Given the description of an element on the screen output the (x, y) to click on. 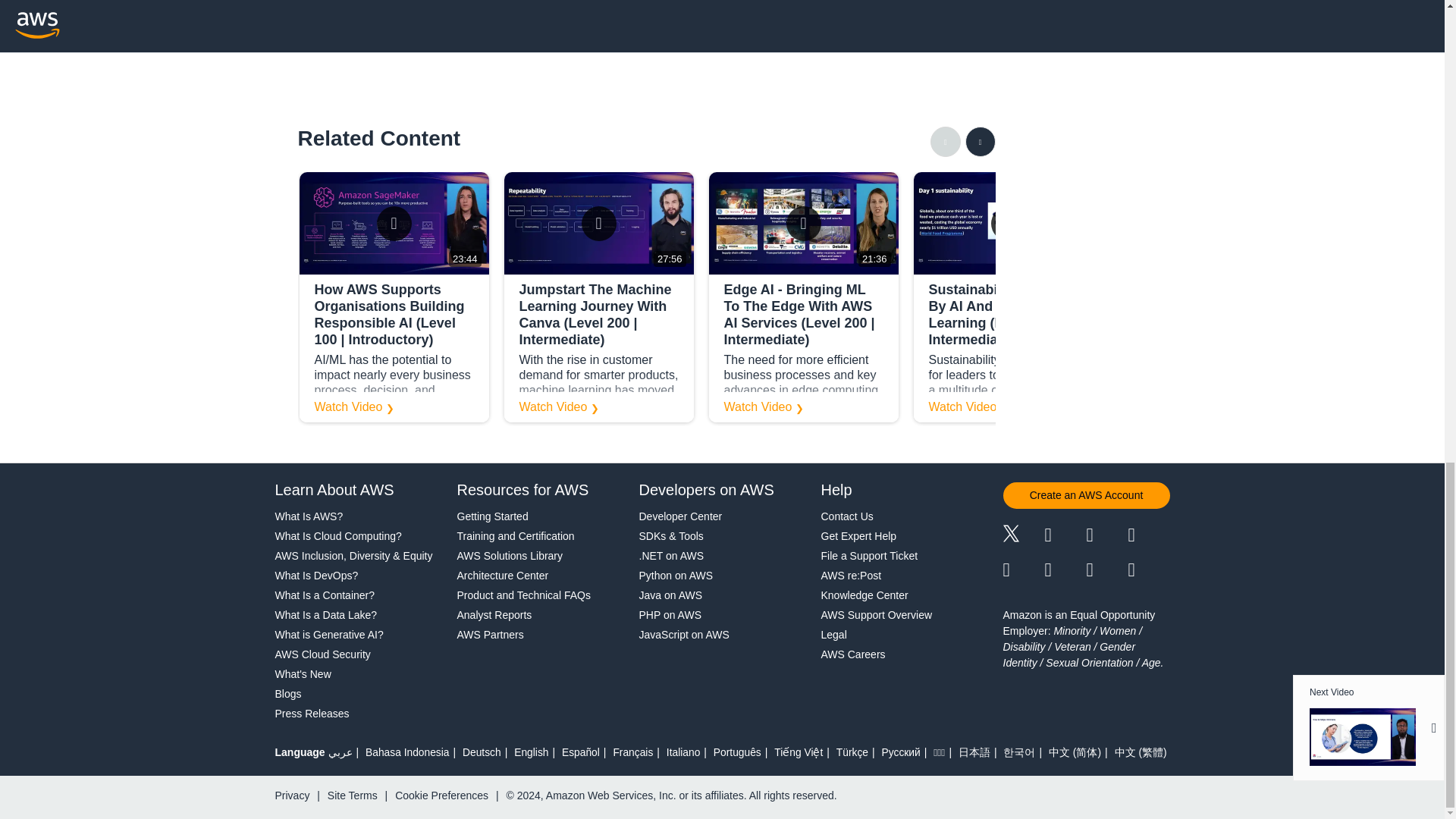
Email (1136, 571)
Podcast (1094, 571)
Linkedin (1094, 536)
Facebook (1053, 536)
Twitter (1015, 538)
YouTube (1053, 571)
Instagram (1136, 536)
Show previous (945, 141)
Show next (978, 141)
Press Releases (312, 712)
